Given the description of an element on the screen output the (x, y) to click on. 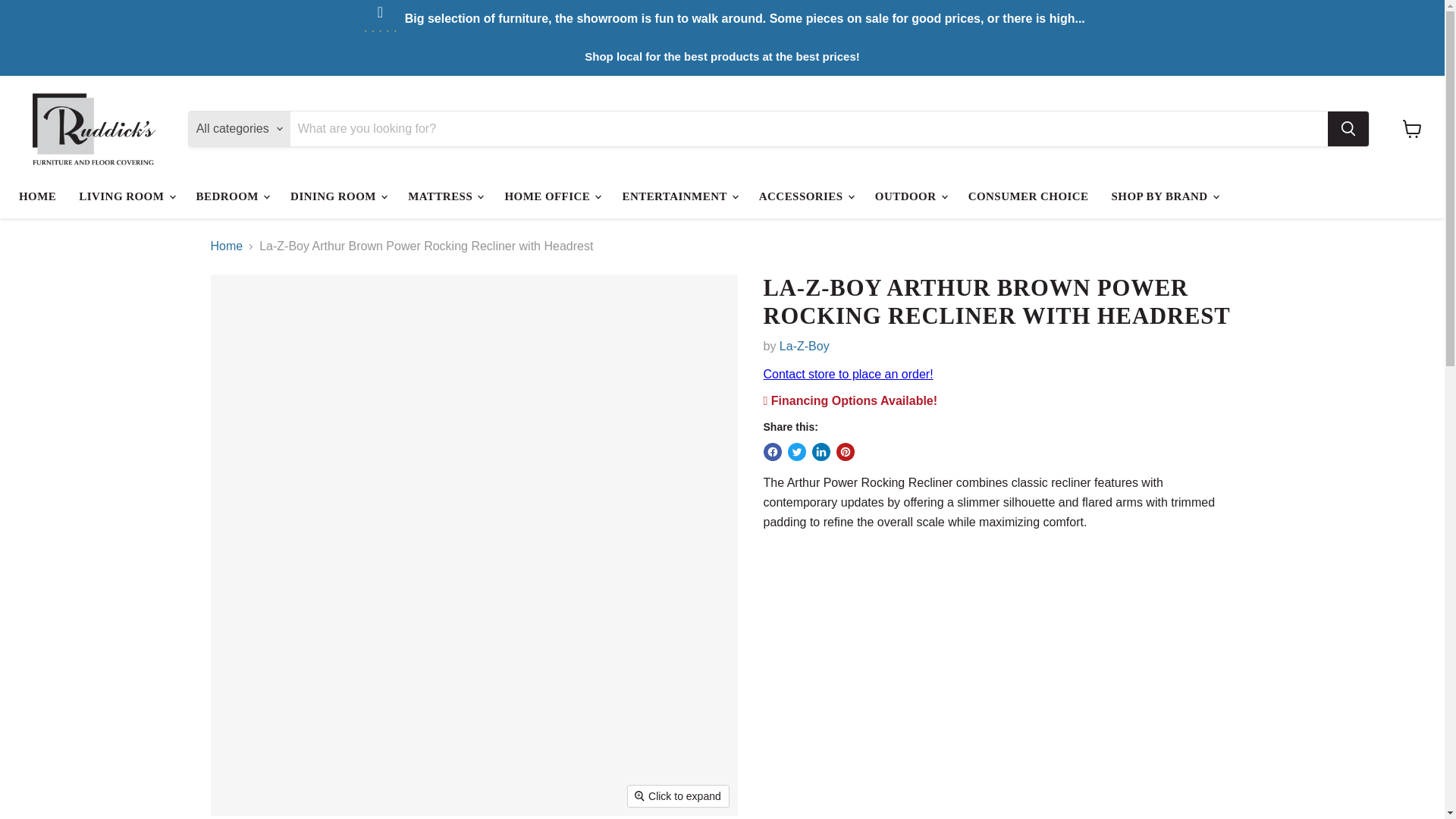
La-Z-Boy (803, 345)
HOME (36, 196)
View cart (1411, 128)
